Given the description of an element on the screen output the (x, y) to click on. 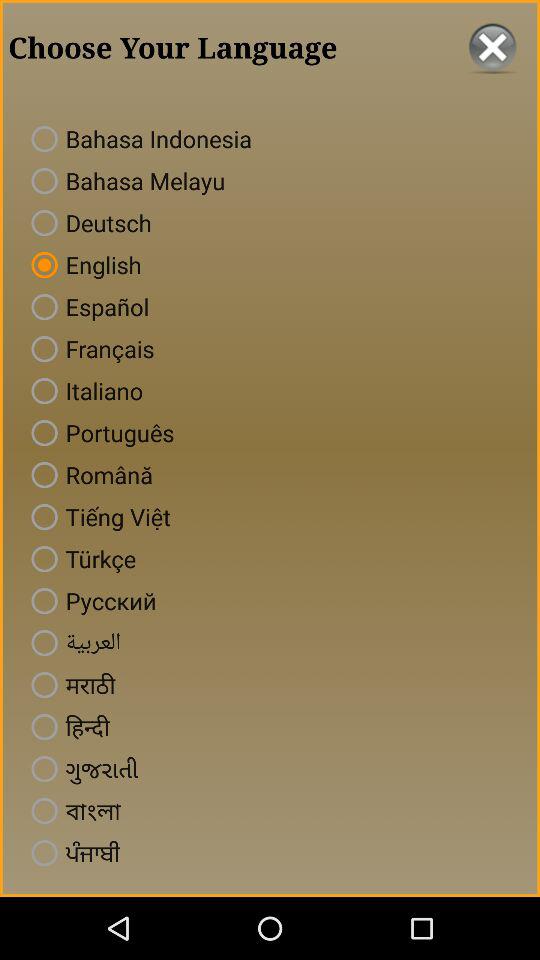
english (82, 264)
click on francais (88, 348)
click on the deutsch (87, 222)
click on the italiano (83, 390)
bahasa melayu (124, 180)
select the last language (71, 852)
click the sixth text from the bottom (71, 643)
